Given the description of an element on the screen output the (x, y) to click on. 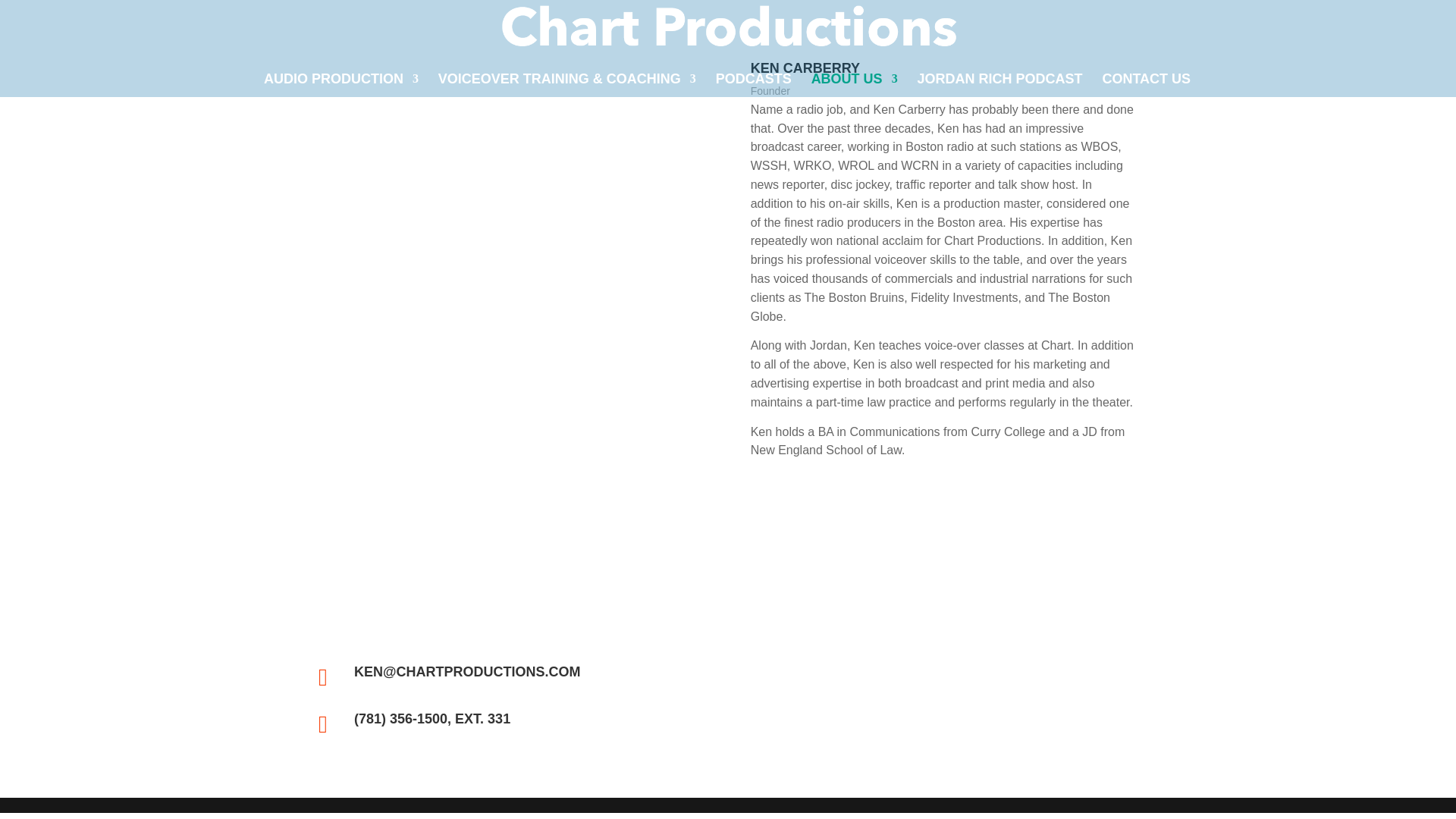
AUDIO PRODUCTION (341, 85)
PODCASTS (754, 85)
JORDAN RICH PODCAST (1000, 85)
CONTACT US (1146, 85)
ABOUT US (854, 85)
